Given the description of an element on the screen output the (x, y) to click on. 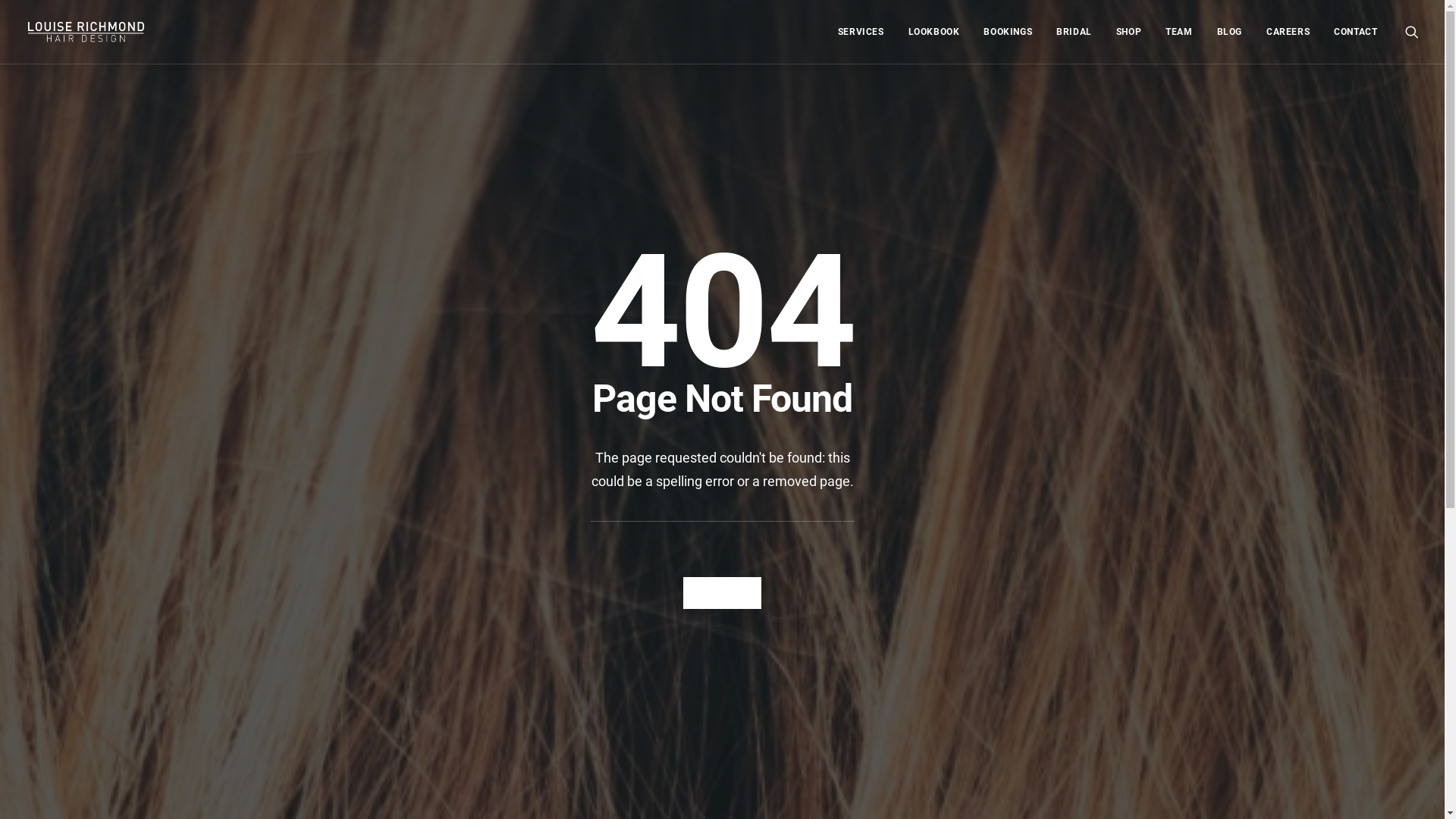
TEAM Element type: text (1178, 31)
BLOG Element type: text (1229, 31)
SHOP Element type: text (1128, 31)
HOME Element type: text (722, 592)
SERVICES Element type: text (860, 31)
CAREERS Element type: text (1287, 31)
CONTACT Element type: text (1350, 31)
BRIDAL Element type: text (1073, 31)
LOOKBOOK Element type: text (933, 31)
BOOKINGS Element type: text (1007, 31)
